Given the description of an element on the screen output the (x, y) to click on. 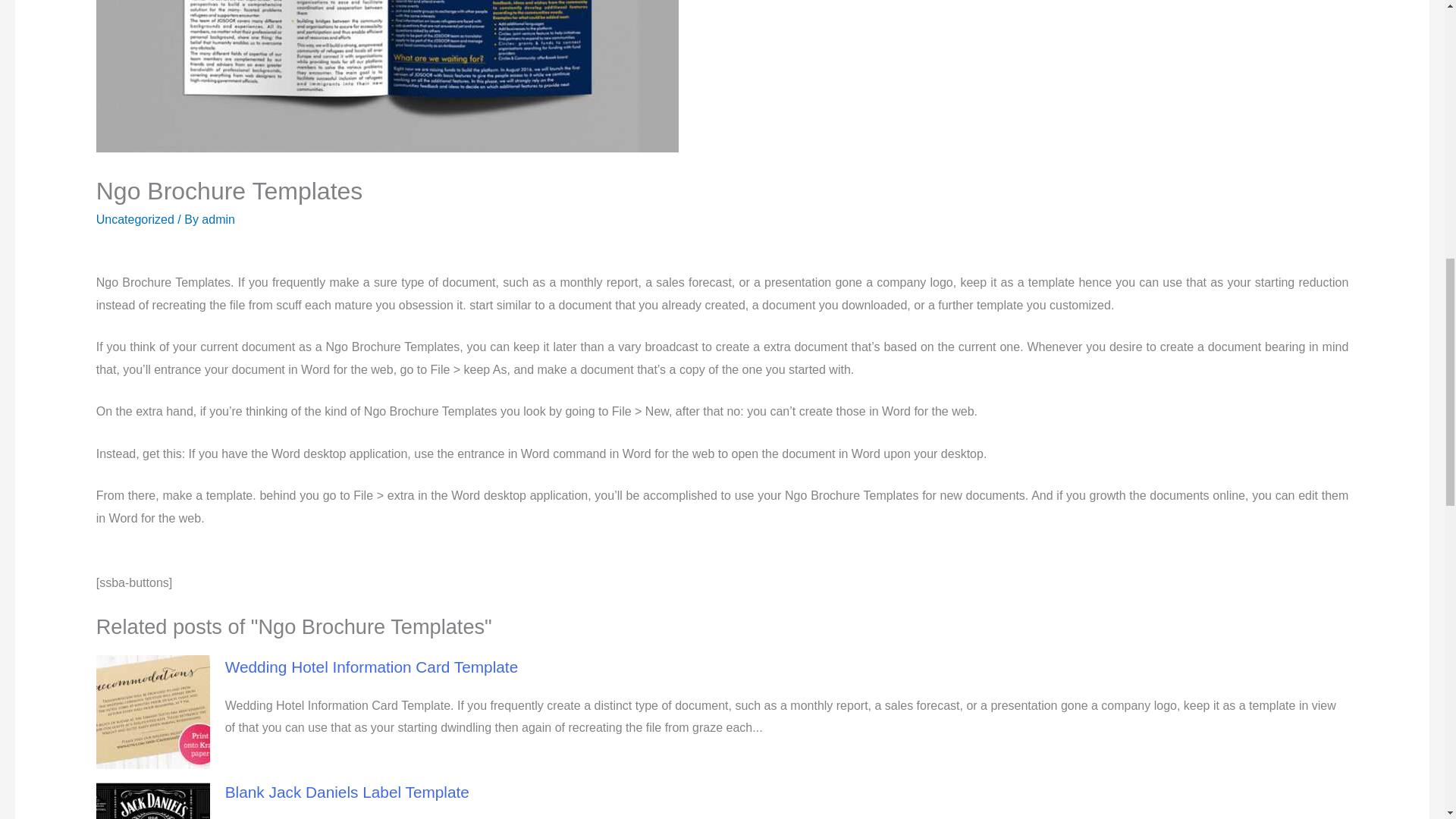
View all posts by admin (218, 219)
Uncategorized (135, 219)
admin (218, 219)
Wedding Hotel Information Card Template (371, 666)
Blank Jack Daniels Label Template (346, 791)
